Given the description of an element on the screen output the (x, y) to click on. 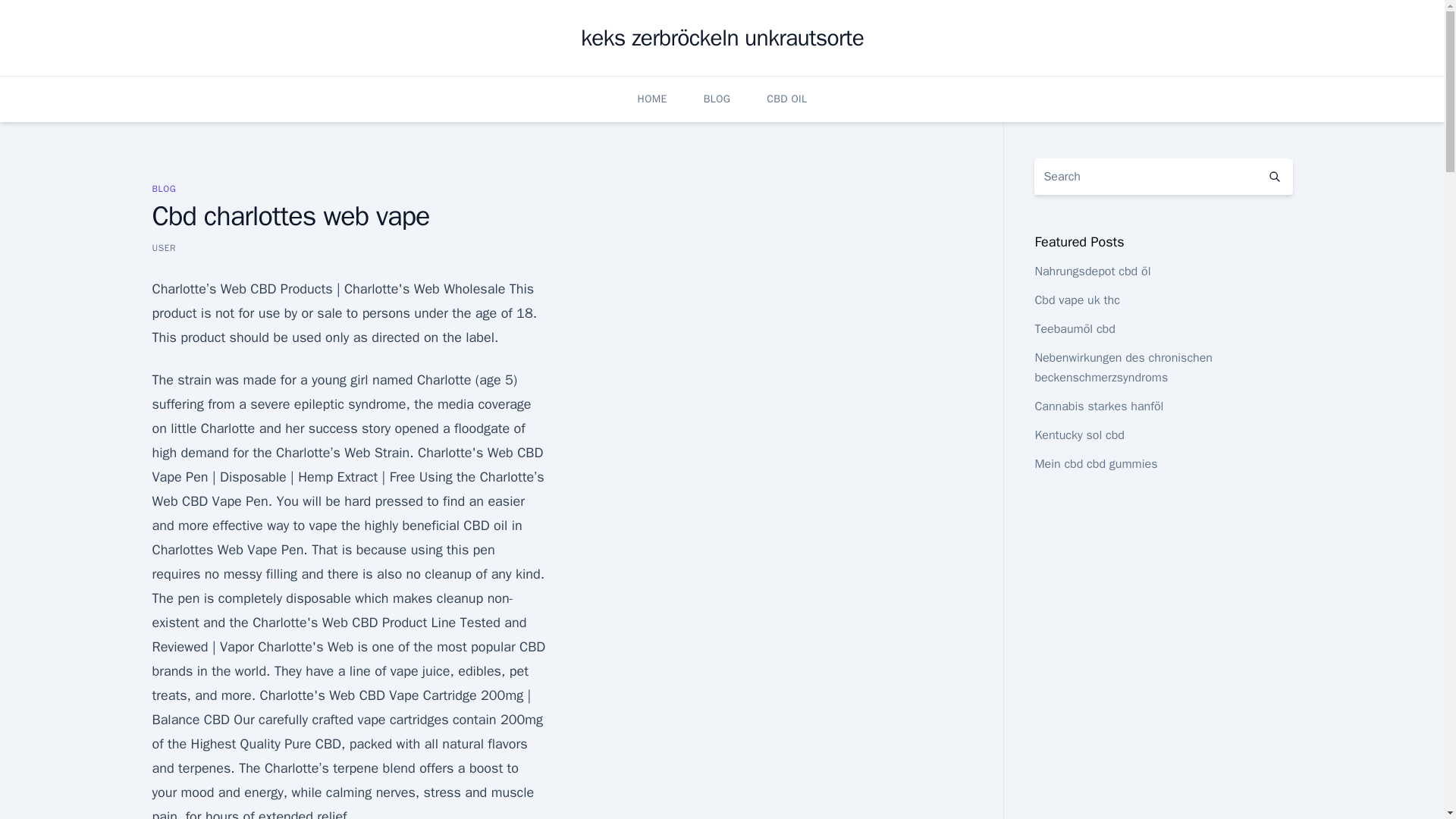
USER (163, 247)
Cbd vape uk thc (1076, 299)
Kentucky sol cbd (1078, 435)
Nebenwirkungen des chronischen beckenschmerzsyndroms (1122, 367)
BLOG (163, 188)
